Given the description of an element on the screen output the (x, y) to click on. 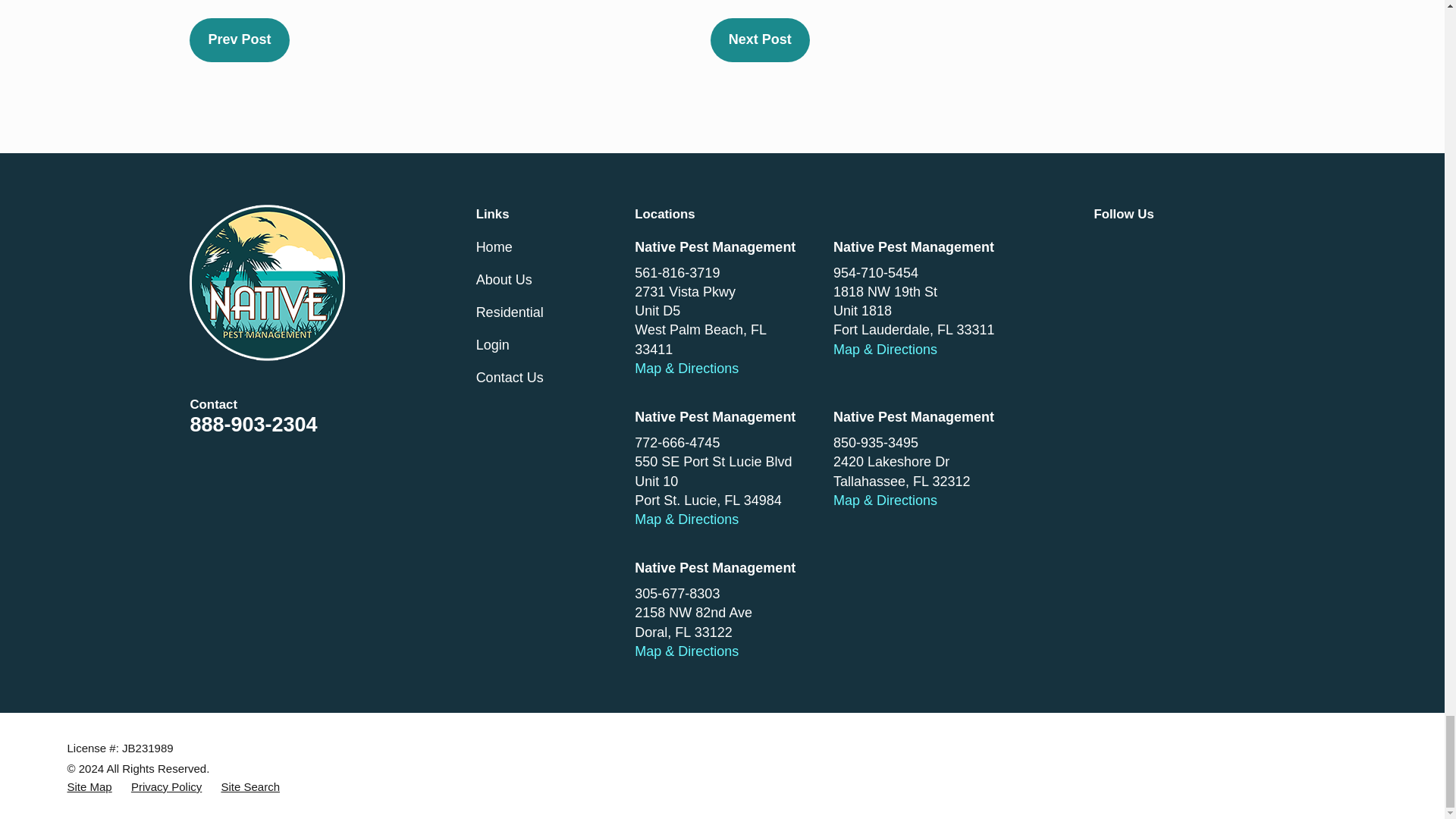
YouTube (1200, 247)
TikTok (1102, 295)
Instagram (1151, 295)
Google Business Profile (1151, 247)
Facebook (1102, 247)
Twitter (1200, 295)
Home (267, 282)
